Given the description of an element on the screen output the (x, y) to click on. 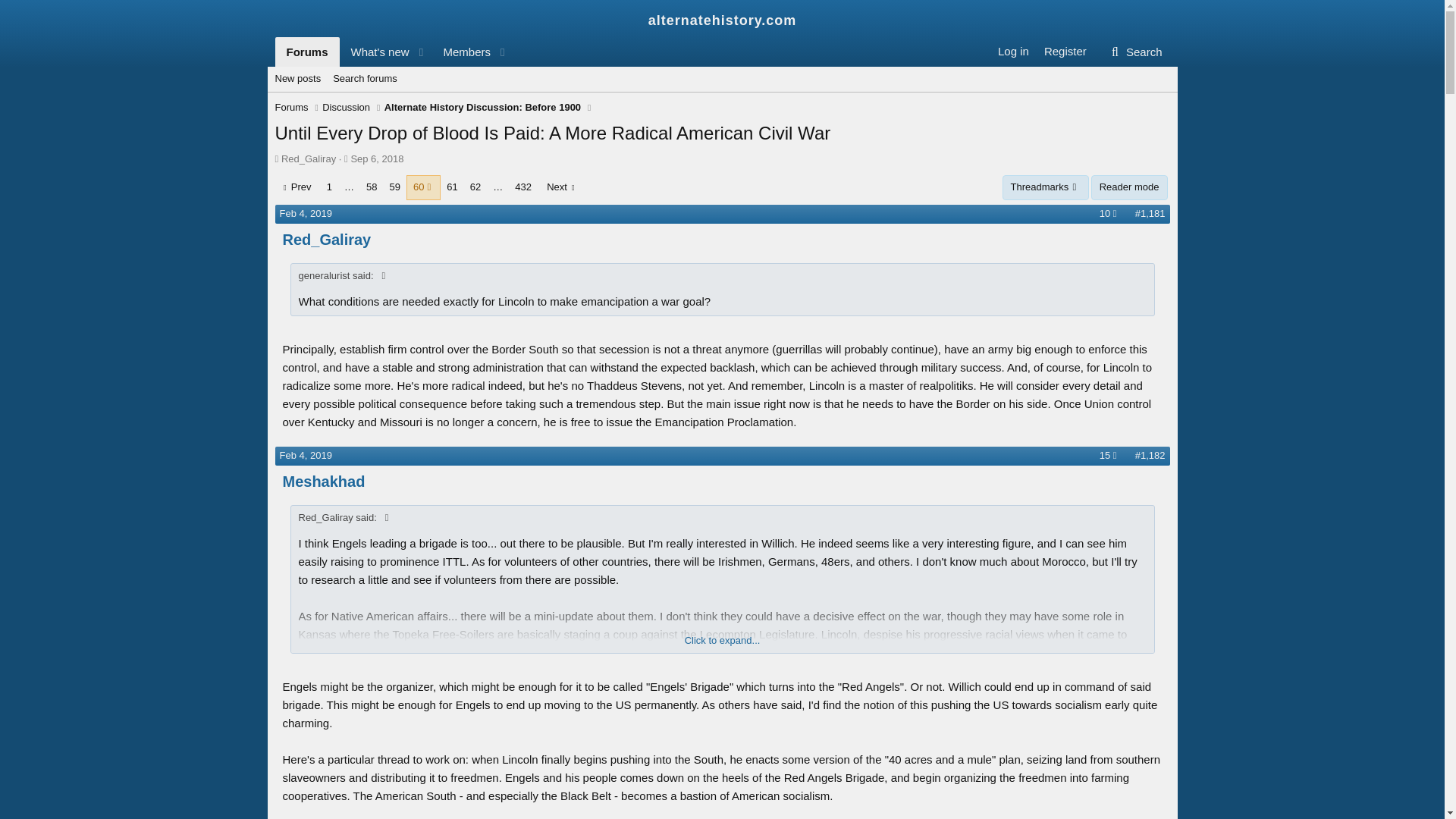
alternatehistory.com (721, 20)
Search forums (364, 78)
What's new (374, 51)
Feb 4, 2019 at 8:37 PM (720, 96)
Search (305, 455)
Sep 6, 2018 (1134, 51)
Sep 6, 2018 at 8:52 PM (376, 158)
Discussion (376, 158)
Forums (345, 107)
Members (307, 51)
Threadmarks (461, 51)
Alternate History Discussion: Before 1900 (392, 51)
Register (1046, 187)
